Given the description of an element on the screen output the (x, y) to click on. 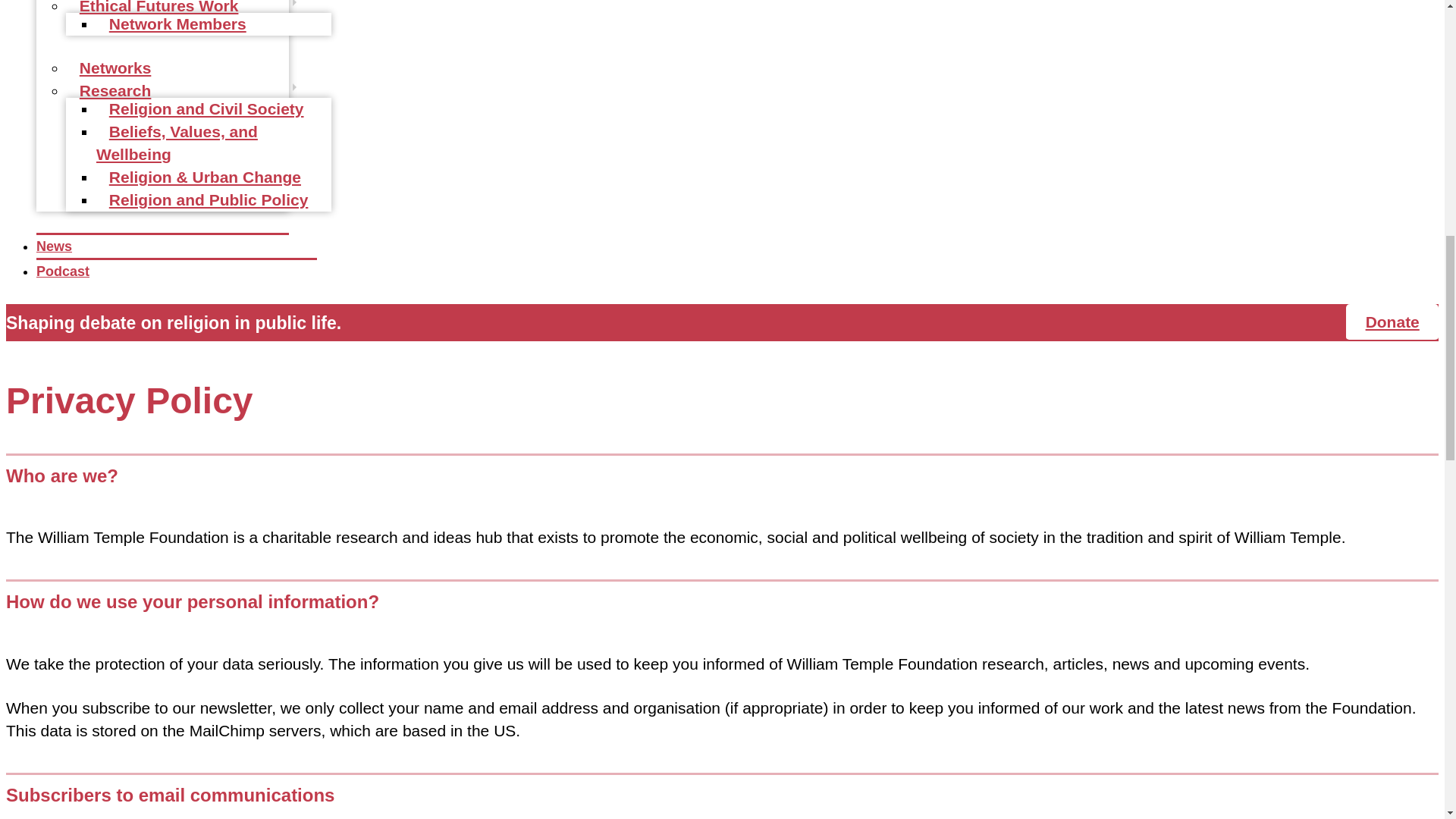
Network Members (177, 24)
Ethical Futures Work (158, 10)
Research (114, 91)
Religion and Public Policy (208, 200)
Networks (114, 68)
News (53, 246)
Beliefs, Values, and Wellbeing (176, 143)
Religion and Civil Society (205, 109)
Podcast (62, 271)
